Given the description of an element on the screen output the (x, y) to click on. 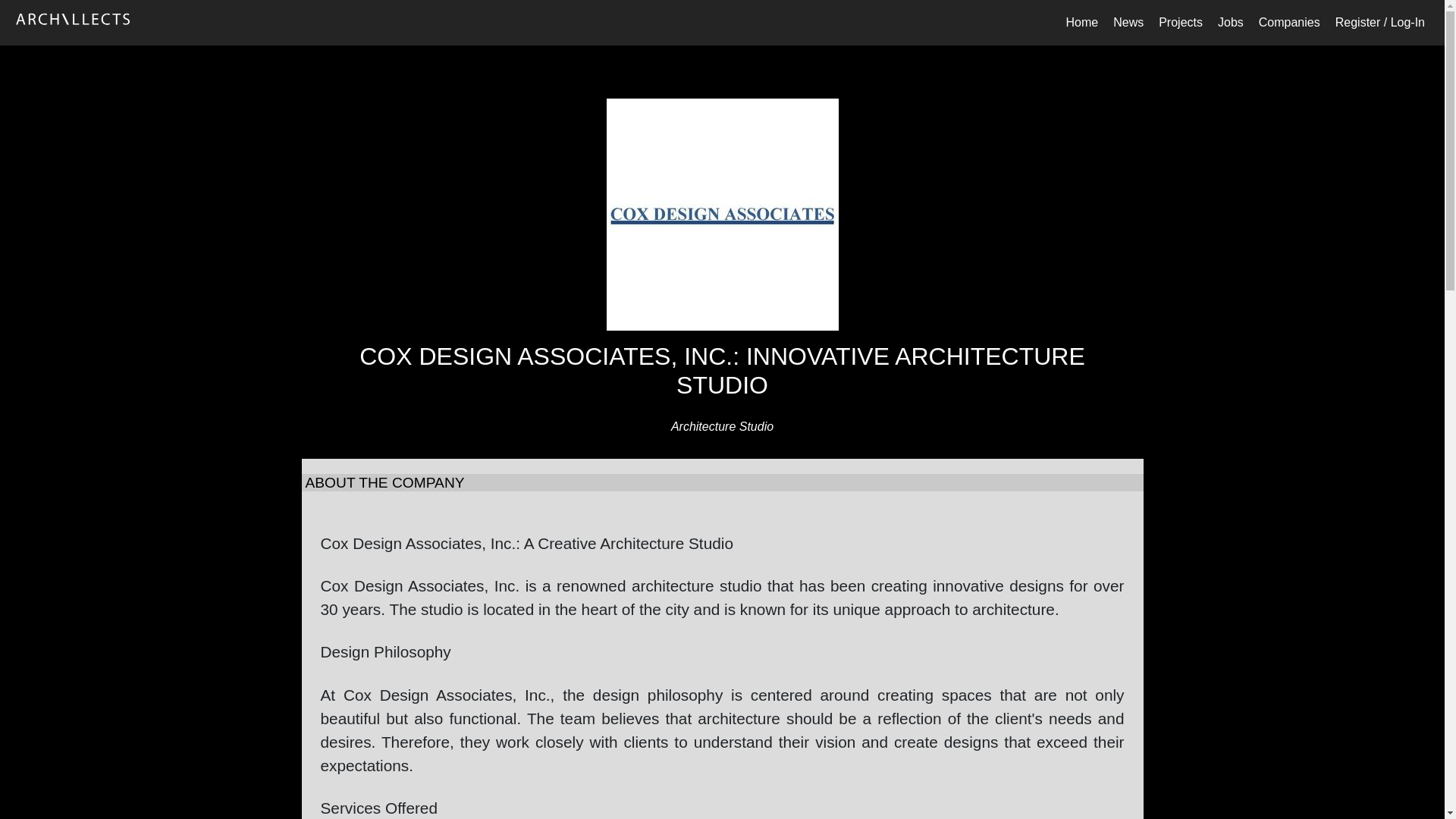
Companies (1288, 22)
Jobs (1229, 22)
Home (1081, 22)
News (1128, 22)
Jobs (1229, 22)
Projects (1180, 22)
Home (1081, 22)
Projects (1180, 22)
News (1128, 22)
Companies (1288, 22)
